Given the description of an element on the screen output the (x, y) to click on. 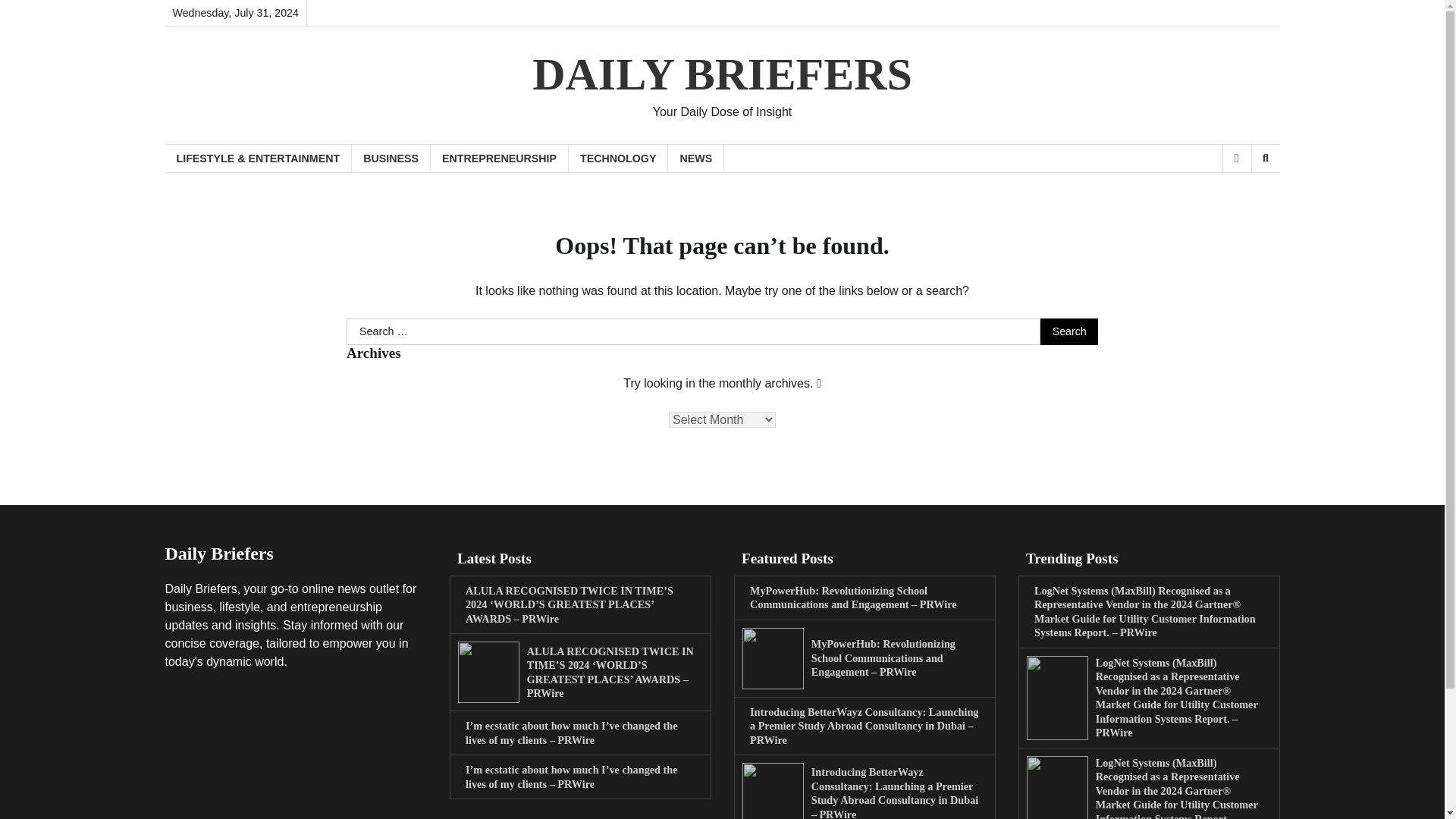
ENTREPRENEURSHIP (499, 158)
TECHNOLOGY (618, 158)
Search (1069, 331)
Search (1264, 158)
NEWS (695, 158)
View Random Post (1236, 158)
DAILY BRIEFERS (722, 74)
Search (1069, 331)
Search (1069, 331)
BUSINESS (391, 158)
Search (1240, 197)
